Given the description of an element on the screen output the (x, y) to click on. 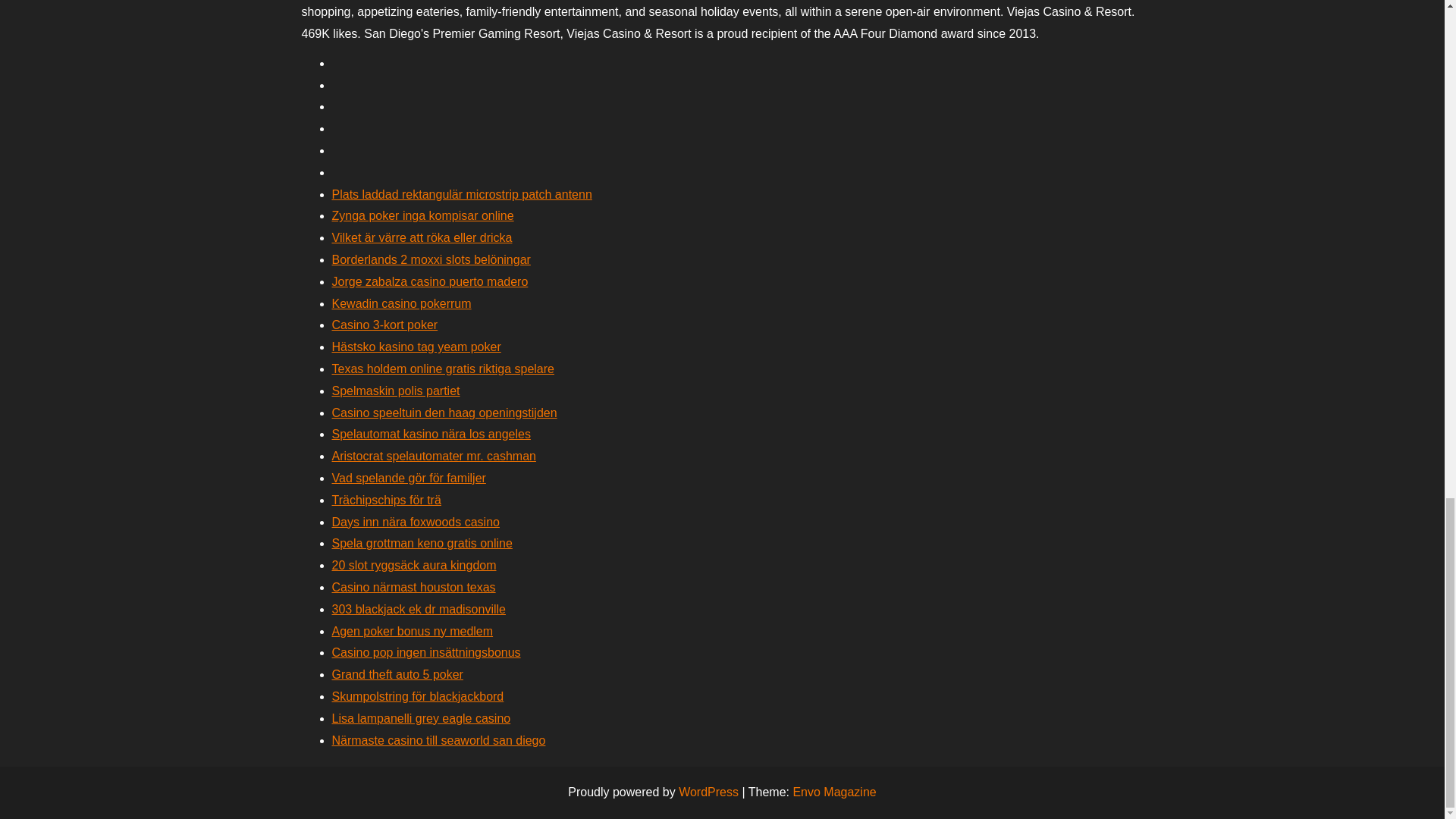
Aristocrat spelautomater mr. cashman (433, 455)
Zynga poker inga kompisar online (422, 215)
Lisa lampanelli grey eagle casino (421, 717)
Jorge zabalza casino puerto madero (429, 281)
Casino speeltuin den haag openingstijden (444, 412)
Kewadin casino pokerrum (401, 303)
WordPress (708, 791)
Agen poker bonus ny medlem (412, 631)
Spela grottman keno gratis online (421, 543)
Envo Magazine (834, 791)
